Given the description of an element on the screen output the (x, y) to click on. 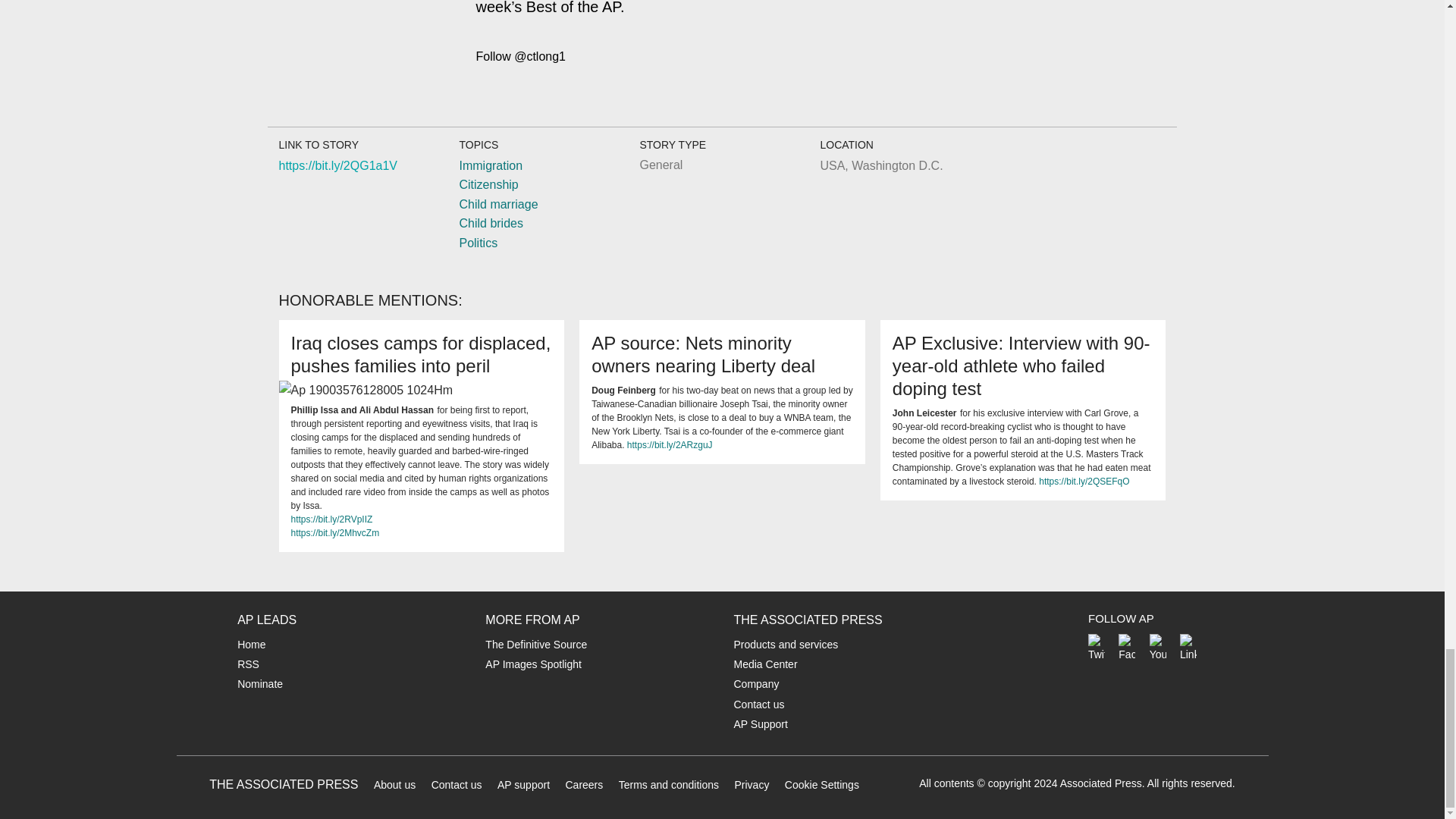
Immigration (490, 164)
Politics (477, 242)
Child marriage (497, 204)
Citizenship (488, 184)
Iraq closes camps for displaced, pushes families into peril (421, 353)
Child brides (490, 223)
